Given the description of an element on the screen output the (x, y) to click on. 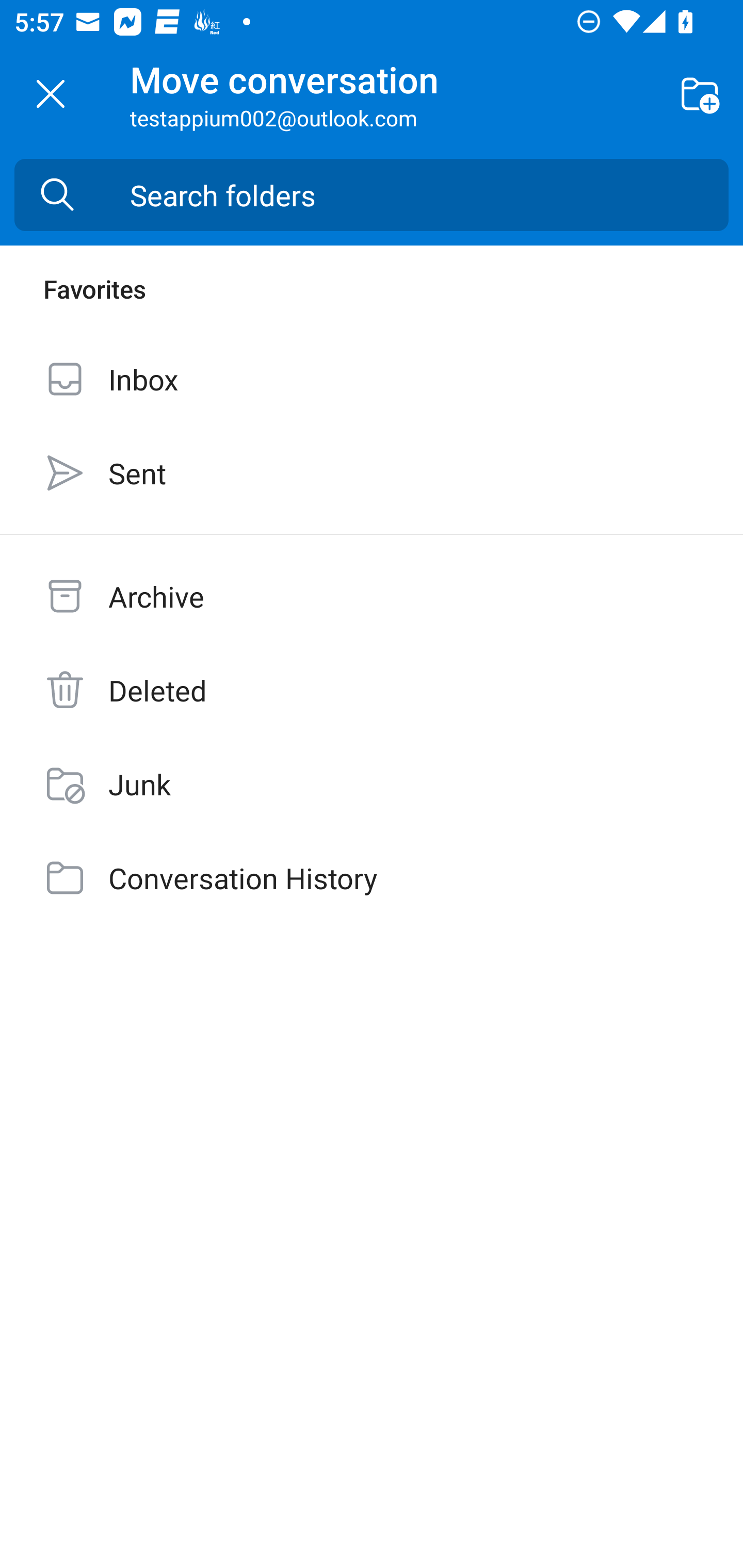
Move conversation, Cancel (50, 93)
Create new folder (699, 93)
Search folders (429, 194)
Inbox (371, 379)
Sent (371, 473)
Archive (371, 595)
Deleted (371, 689)
Junk (371, 783)
Conversation History (371, 878)
